Given the description of an element on the screen output the (x, y) to click on. 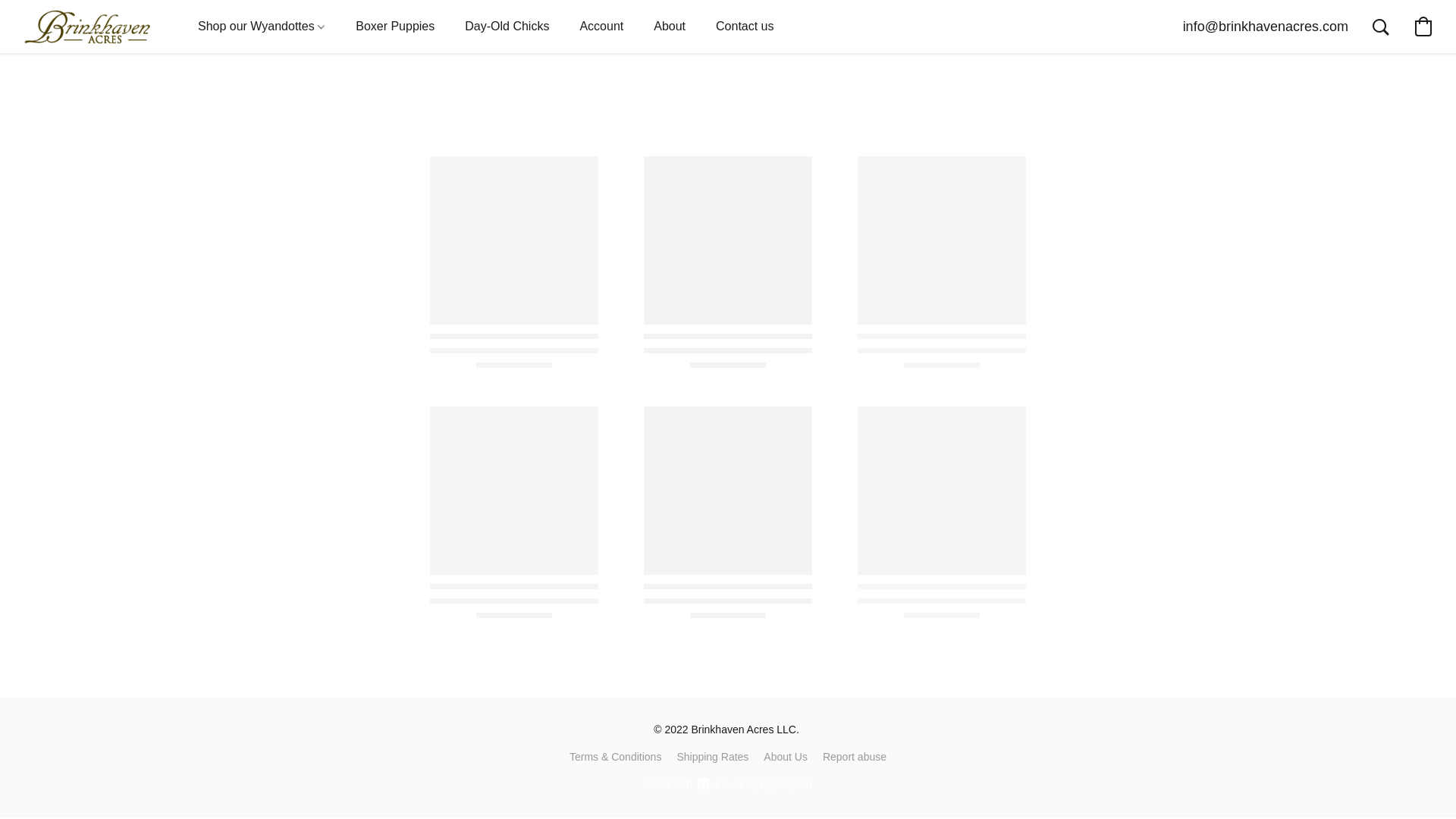
Shipping Rates (712, 756)
About Us (785, 756)
Go to your shopping cart (1423, 25)
Search the website (1380, 25)
Shop our Wyandottes (261, 26)
Boxer Puppies (394, 26)
Account (601, 26)
Contact us (744, 26)
Day-Old Chicks (506, 26)
About (669, 26)
